Given the description of an element on the screen output the (x, y) to click on. 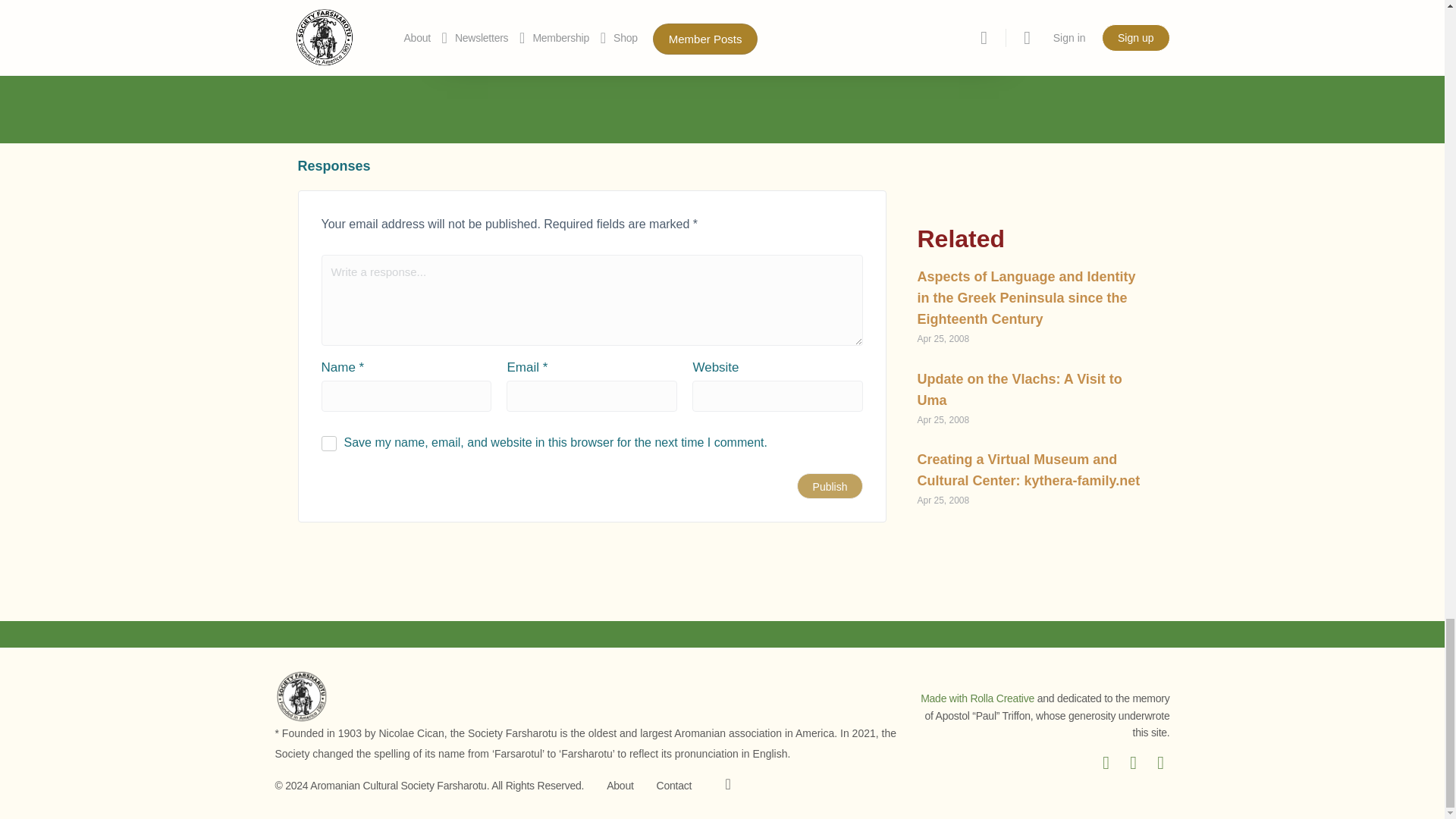
Publish (829, 485)
